Given the description of an element on the screen output the (x, y) to click on. 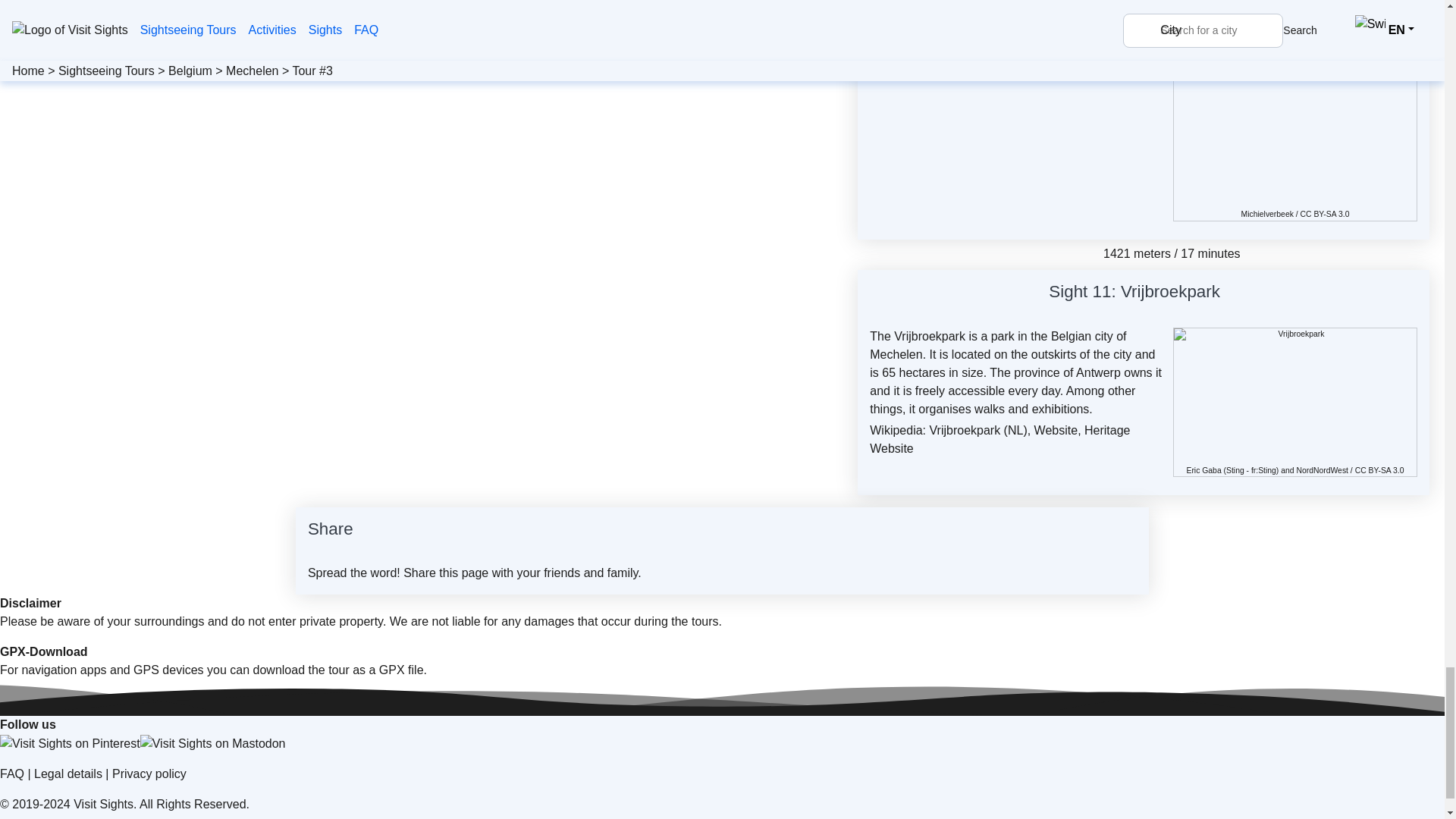
fr:Utilisateur:Sting (1263, 470)
Visit Sights on Pinterest (69, 743)
Visit Sights on Mastodon (212, 743)
User:NordNordWest (1321, 470)
User:Sting (1234, 470)
User:Michielverbeek (1267, 213)
